Given the description of an element on the screen output the (x, y) to click on. 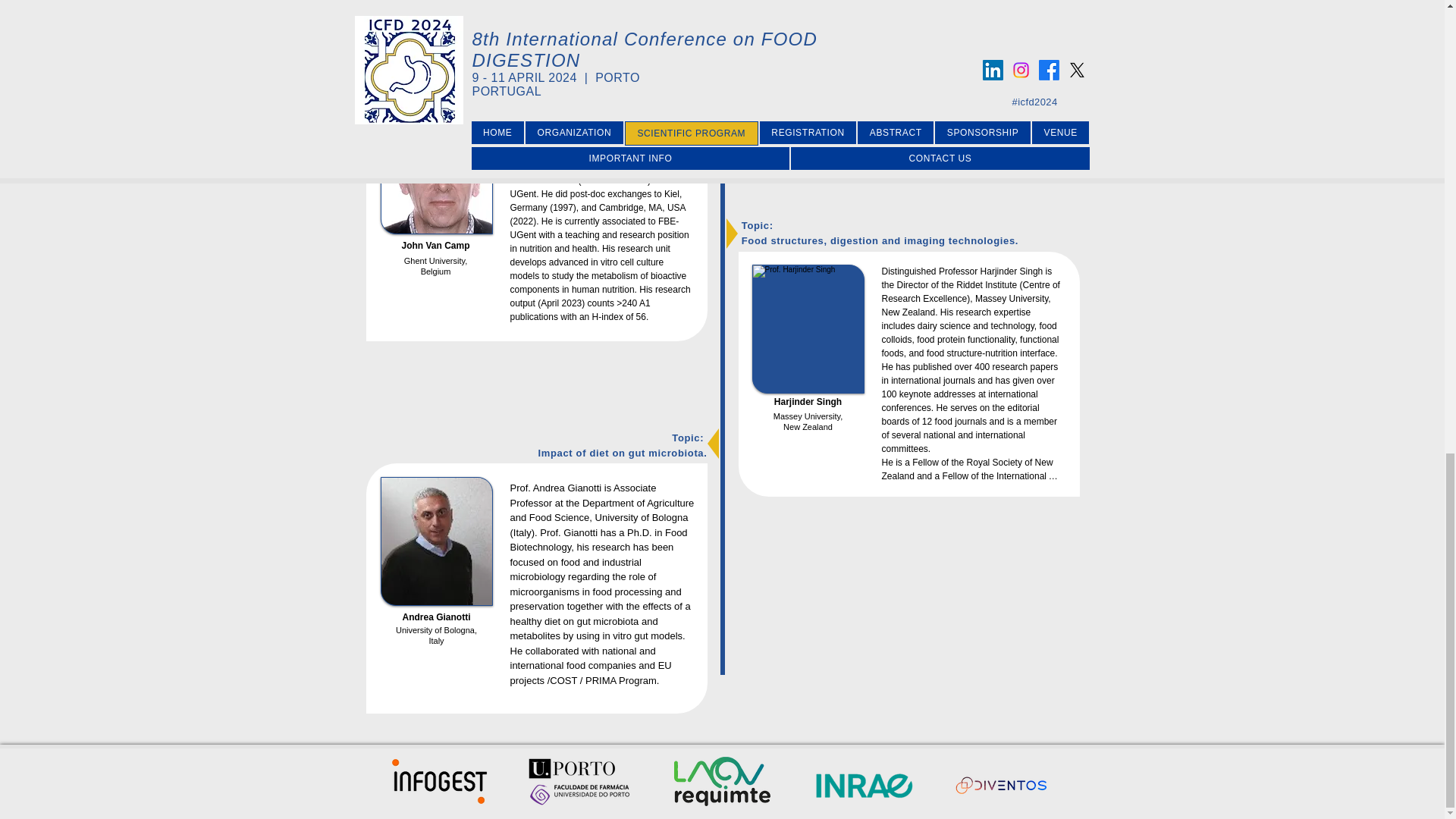
Prof. Maria manuela E. Pintado (808, 34)
